Given the description of an element on the screen output the (x, y) to click on. 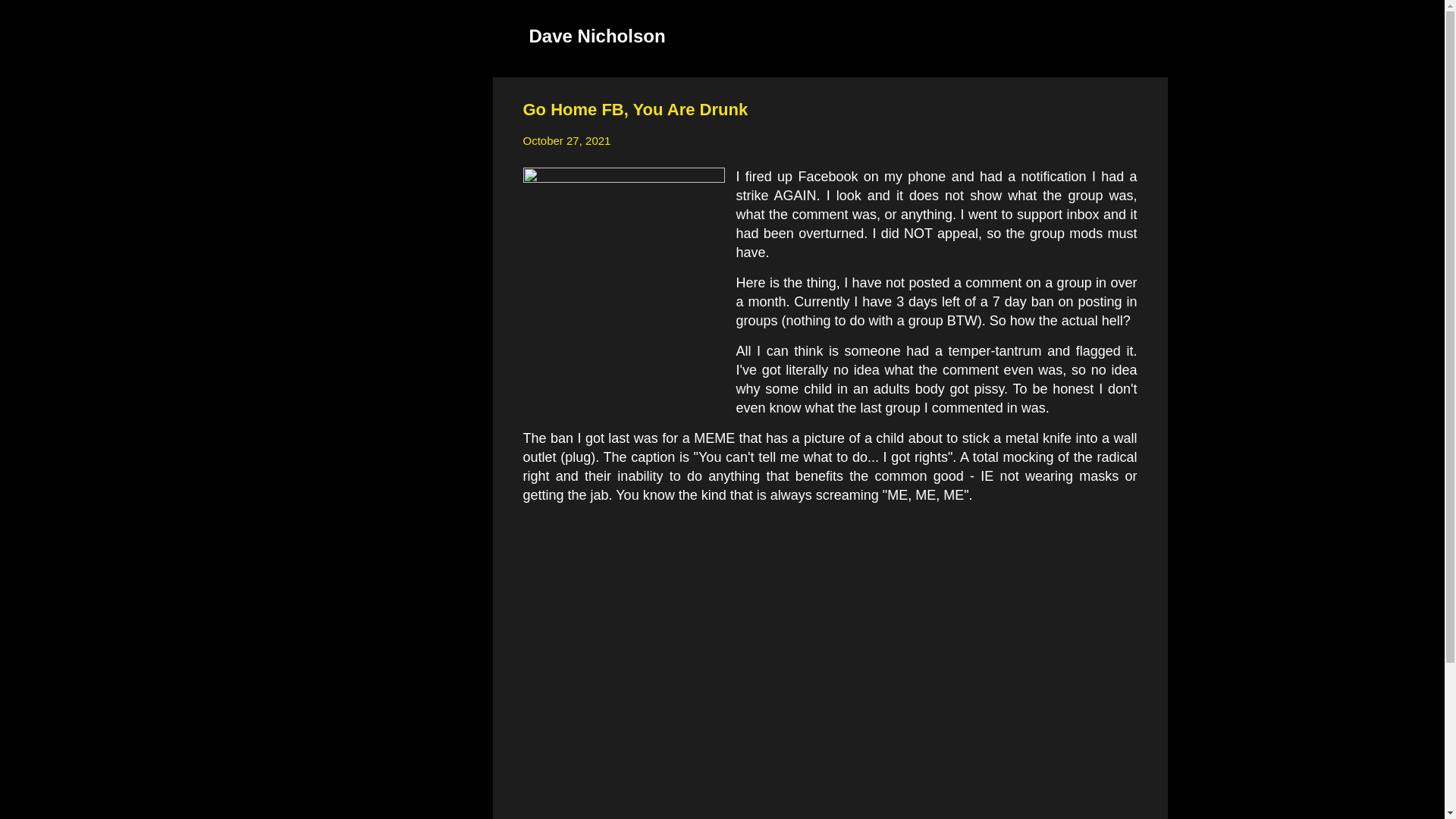
permanent link (566, 140)
Search (29, 18)
October 27, 2021 (566, 140)
Email Post (562, 576)
Dave Nicholson (597, 35)
